Given the description of an element on the screen output the (x, y) to click on. 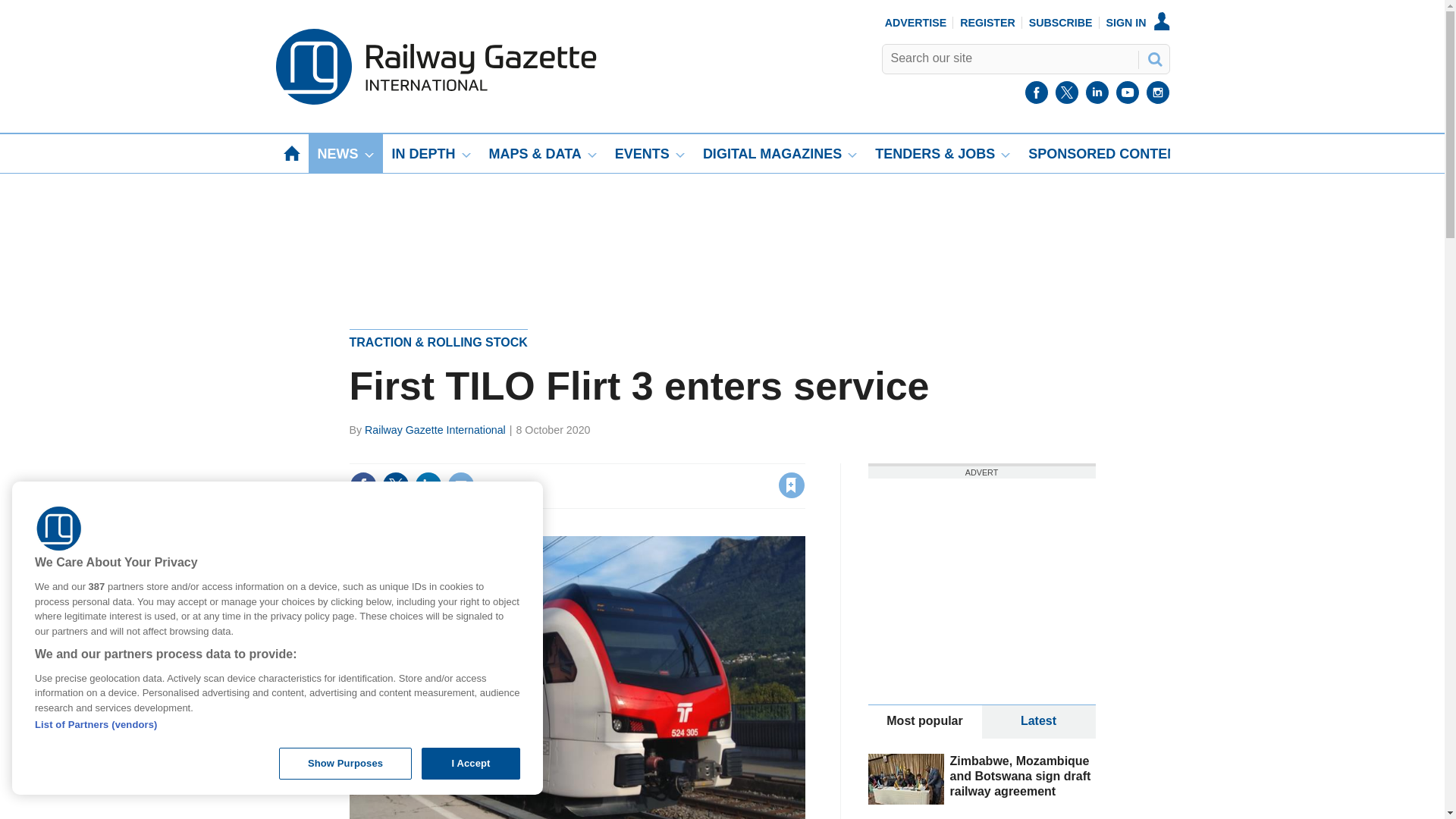
Railway Gazette Logo (58, 528)
Share this on Twitter (395, 484)
Share this on Facebook (362, 484)
3rd party ad content (980, 573)
REGISTER (986, 22)
Share this on Linked in (427, 484)
Email this article (460, 484)
Railway Gazette (435, 101)
ADVERTISE (915, 22)
SUBSCRIBE (1061, 22)
